Given the description of an element on the screen output the (x, y) to click on. 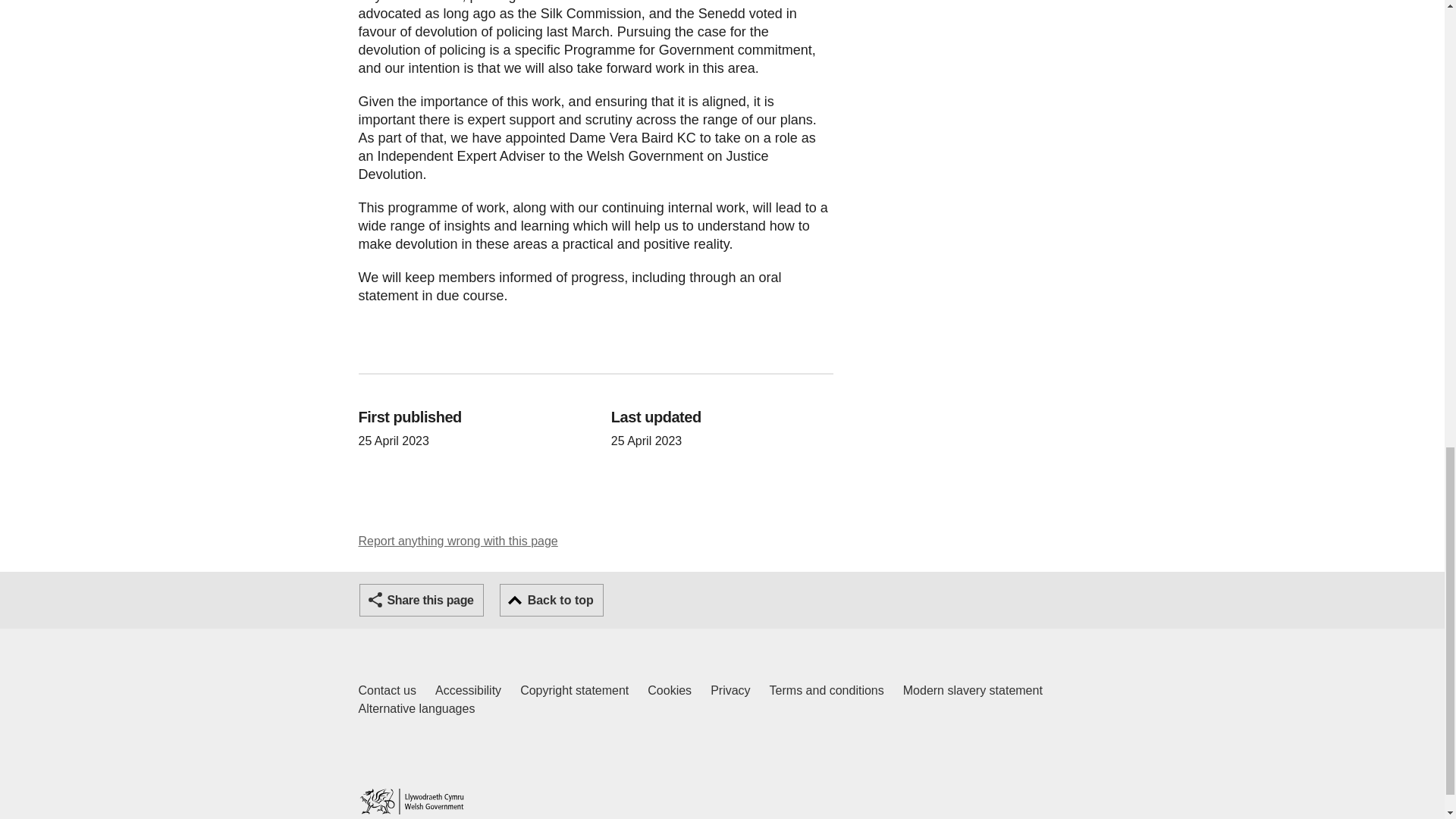
Copyright statement (573, 690)
Home (411, 801)
Back to top (551, 599)
Cookies (669, 690)
Accessibility (467, 690)
Report anything wrong with this page (457, 540)
Privacy (729, 690)
Share this page (386, 690)
Modern slavery statement (421, 599)
